Given the description of an element on the screen output the (x, y) to click on. 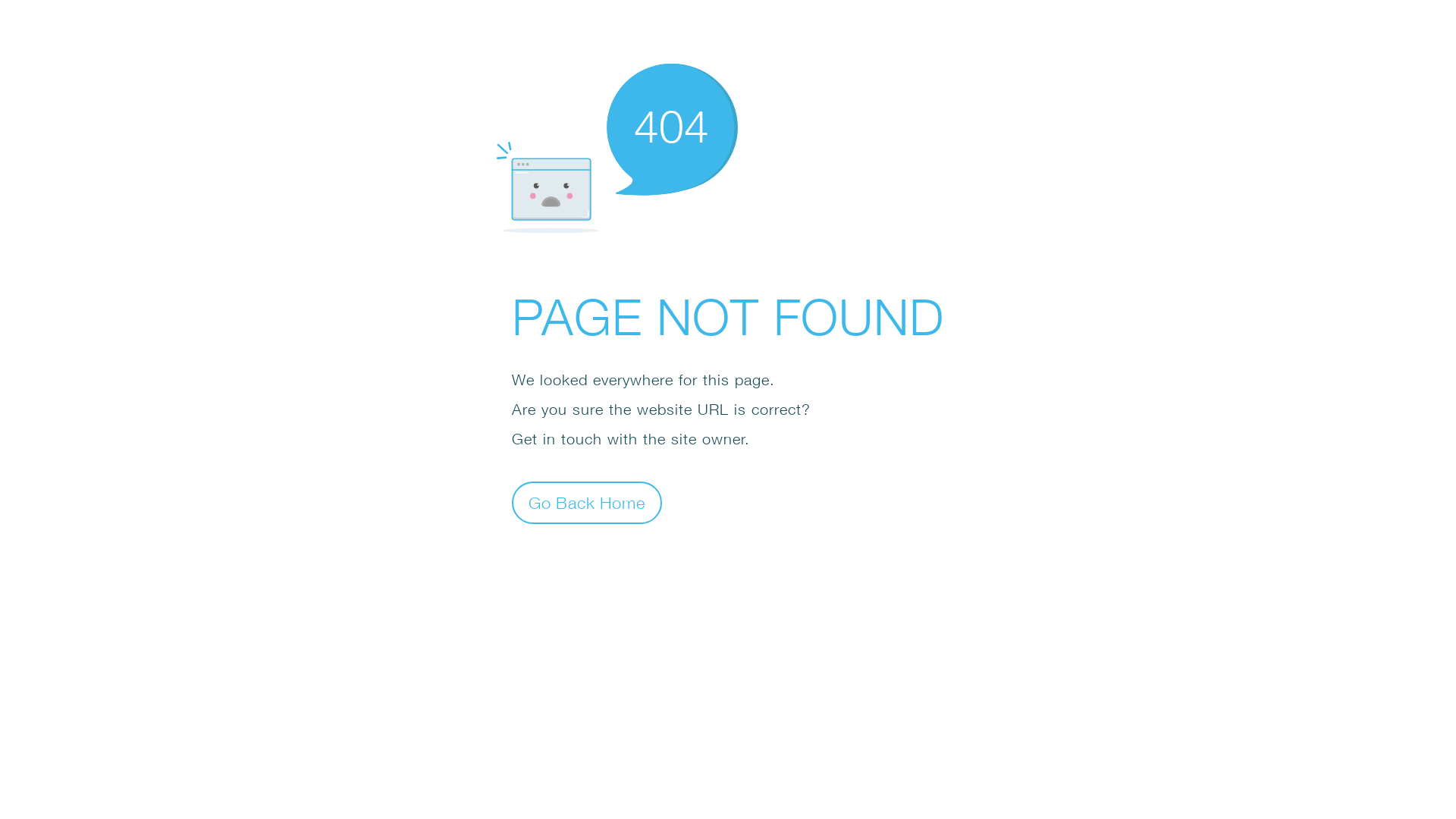
Go Back Home Element type: text (586, 502)
